Given the description of an element on the screen output the (x, y) to click on. 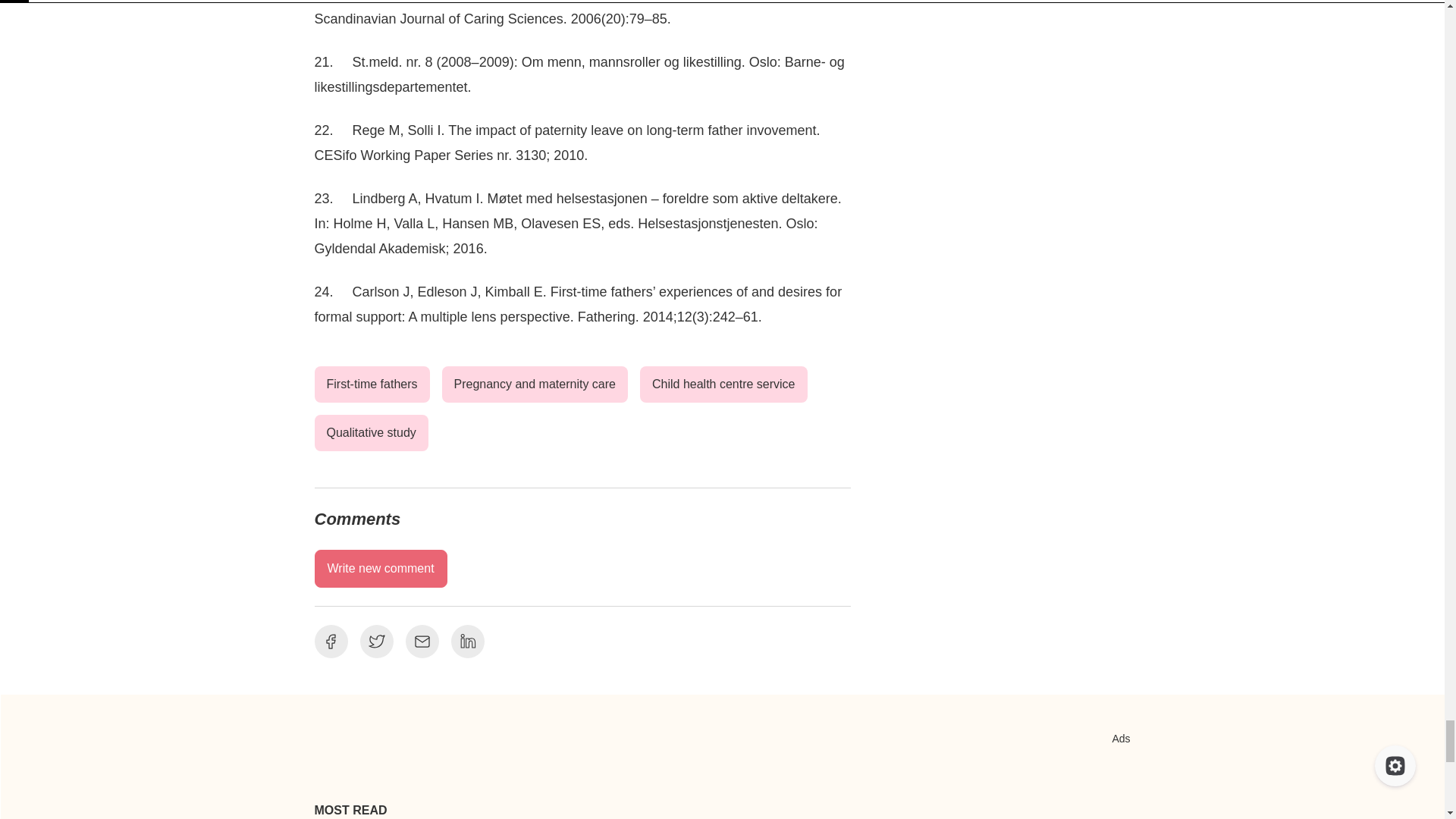
Child health centre service (724, 384)
Qualitative study (371, 432)
Share on Linkedin (466, 641)
Pregnancy and maternity care (534, 384)
Write new comment (380, 568)
First-time fathers (371, 384)
